Given the description of an element on the screen output the (x, y) to click on. 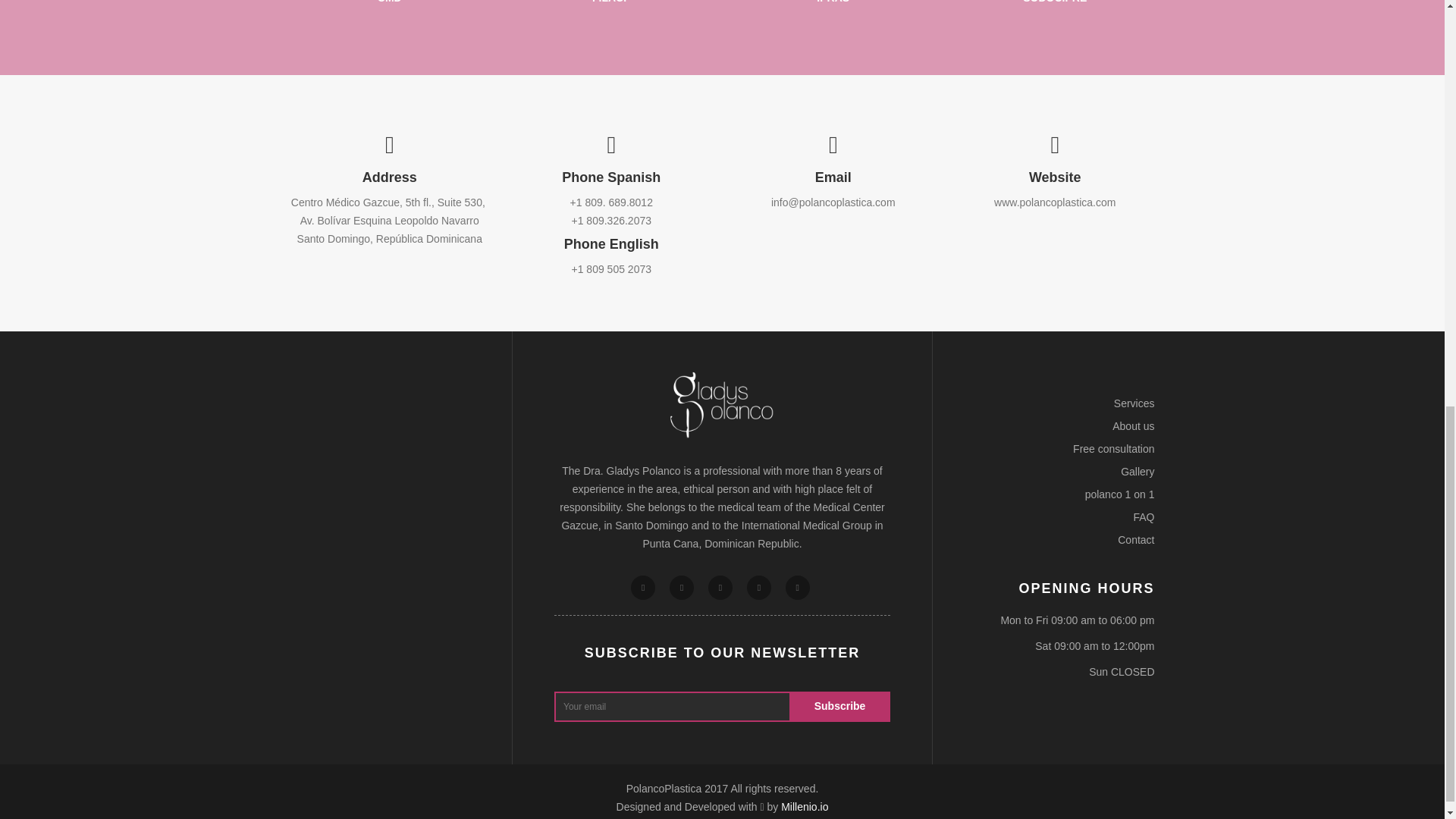
CMD (389, 2)
IPRAS (833, 2)
SODOCIPRE (1054, 2)
FILACP (611, 2)
